Given the description of an element on the screen output the (x, y) to click on. 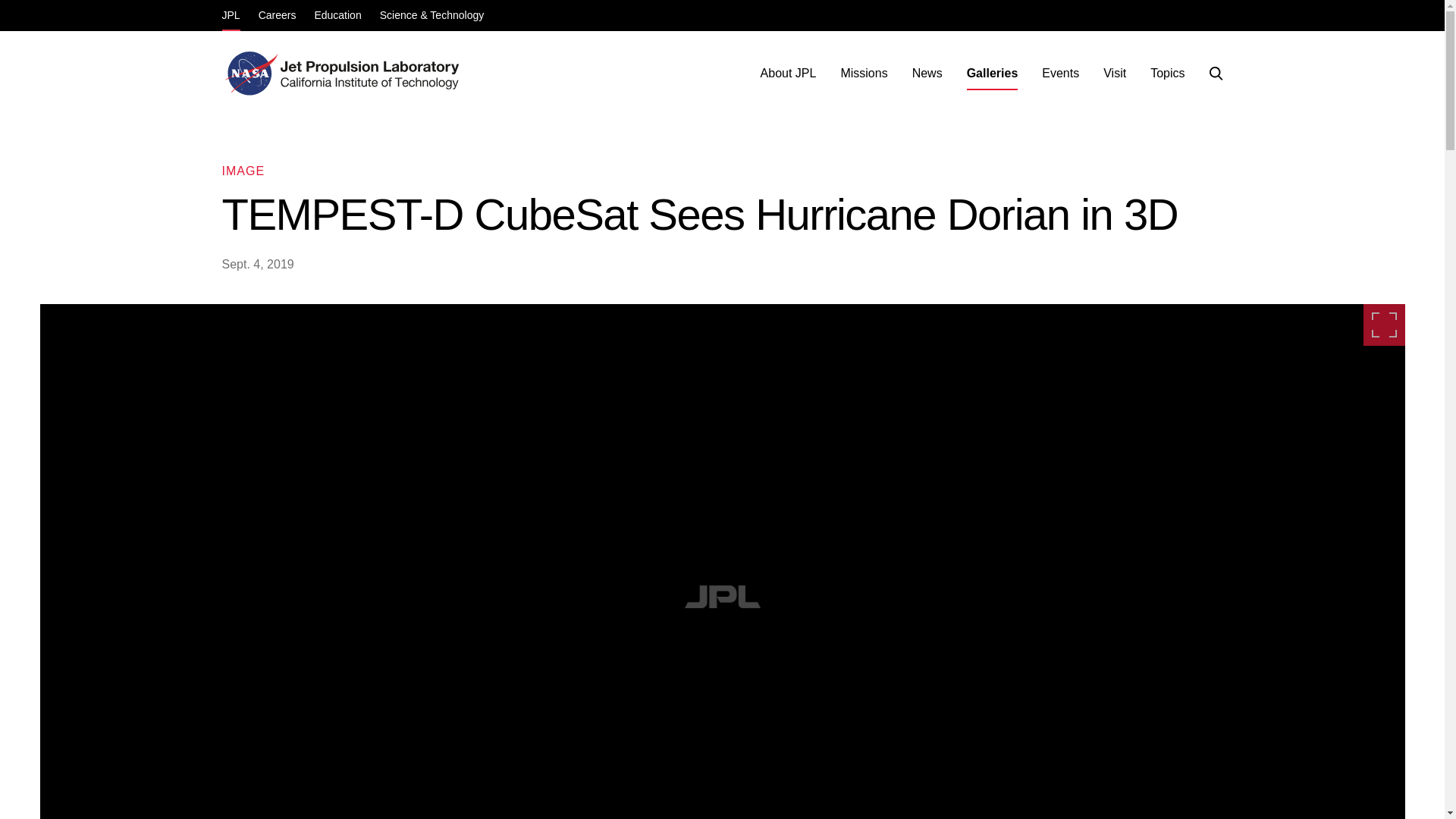
About JPL (788, 73)
IMAGE (242, 170)
Topics (1167, 73)
Galleries (992, 73)
JPL Home (372, 72)
Education (337, 16)
Visit (1114, 73)
NASA (248, 72)
Events (1059, 73)
